Given the description of an element on the screen output the (x, y) to click on. 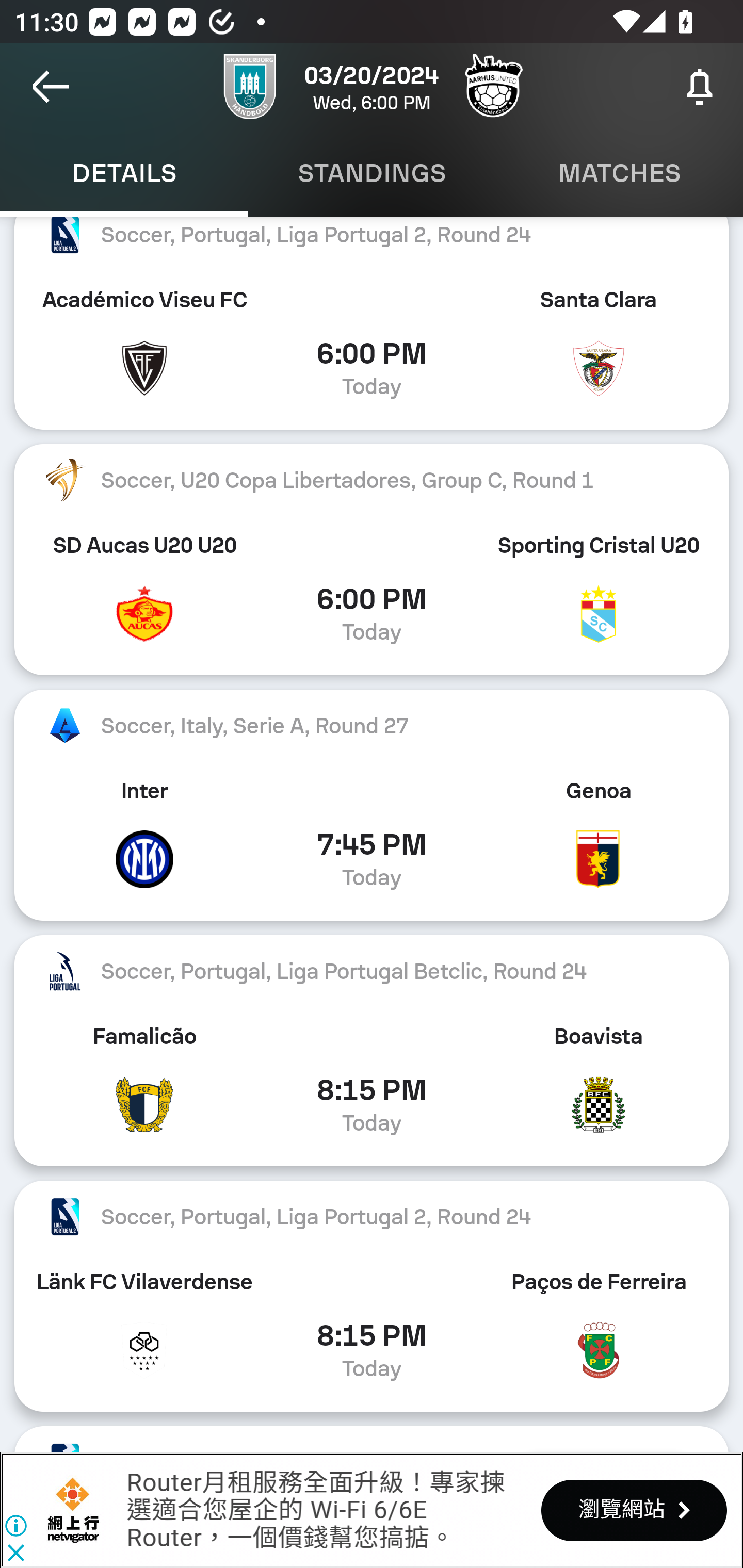
Navigate up (50, 86)
Standings STANDINGS (371, 173)
Matches MATCHES (619, 173)
Soccer, Portugal, Liga Portugal 2, Round 24 (371, 243)
Soccer, U20 Copa Libertadores, Group C, Round 1 (371, 479)
Soccer, Italy, Serie A, Round 27 (371, 725)
Soccer, Portugal, Liga Portugal Betclic, Round 24 (371, 970)
Soccer, Portugal, Liga Portugal 2, Round 24 (371, 1216)
網上行 Netvigator (73, 1510)
瀏覽網站 (634, 1509)
